Given the description of an element on the screen output the (x, y) to click on. 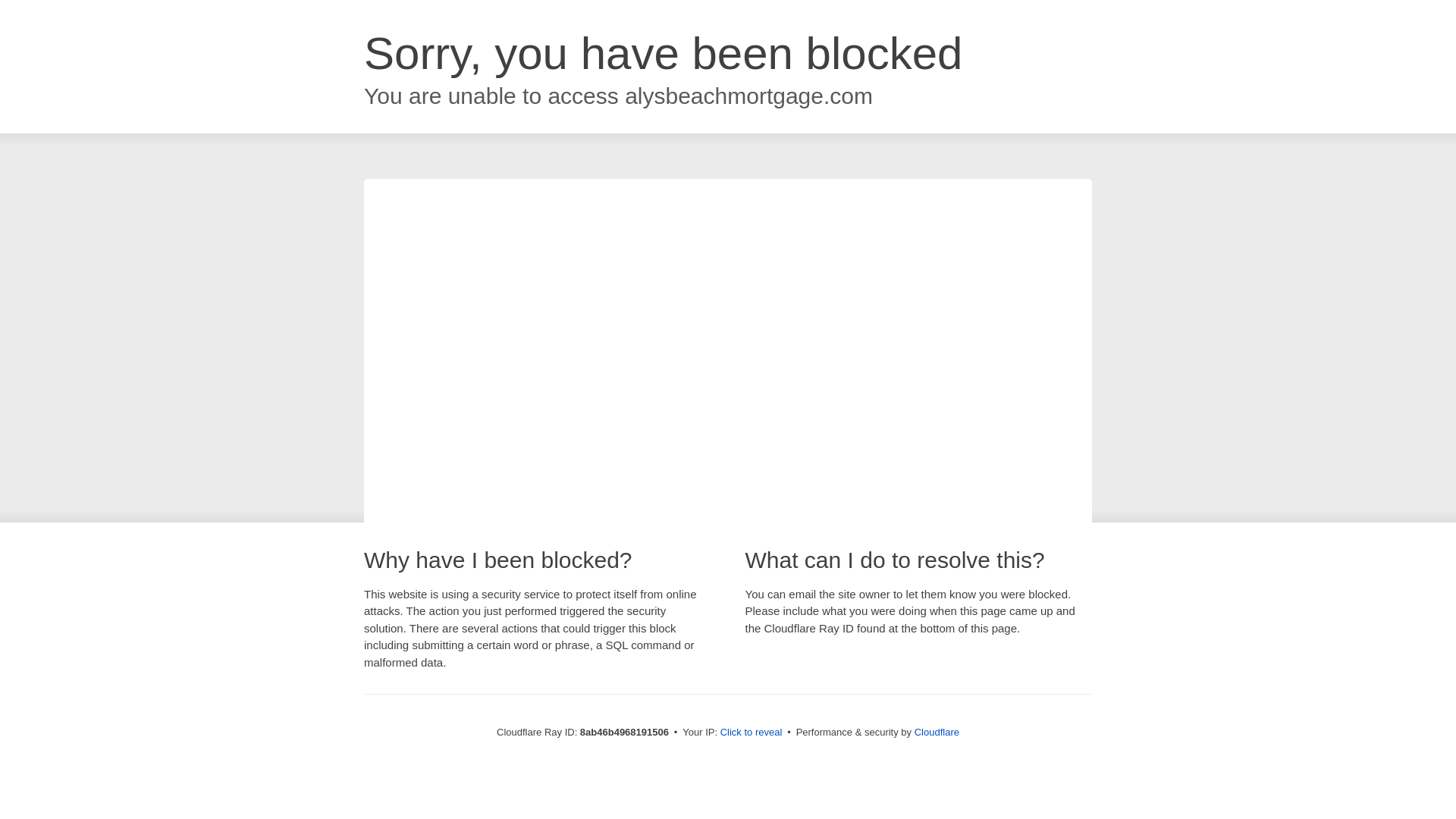
Click to reveal (751, 732)
Cloudflare (936, 731)
